Given the description of an element on the screen output the (x, y) to click on. 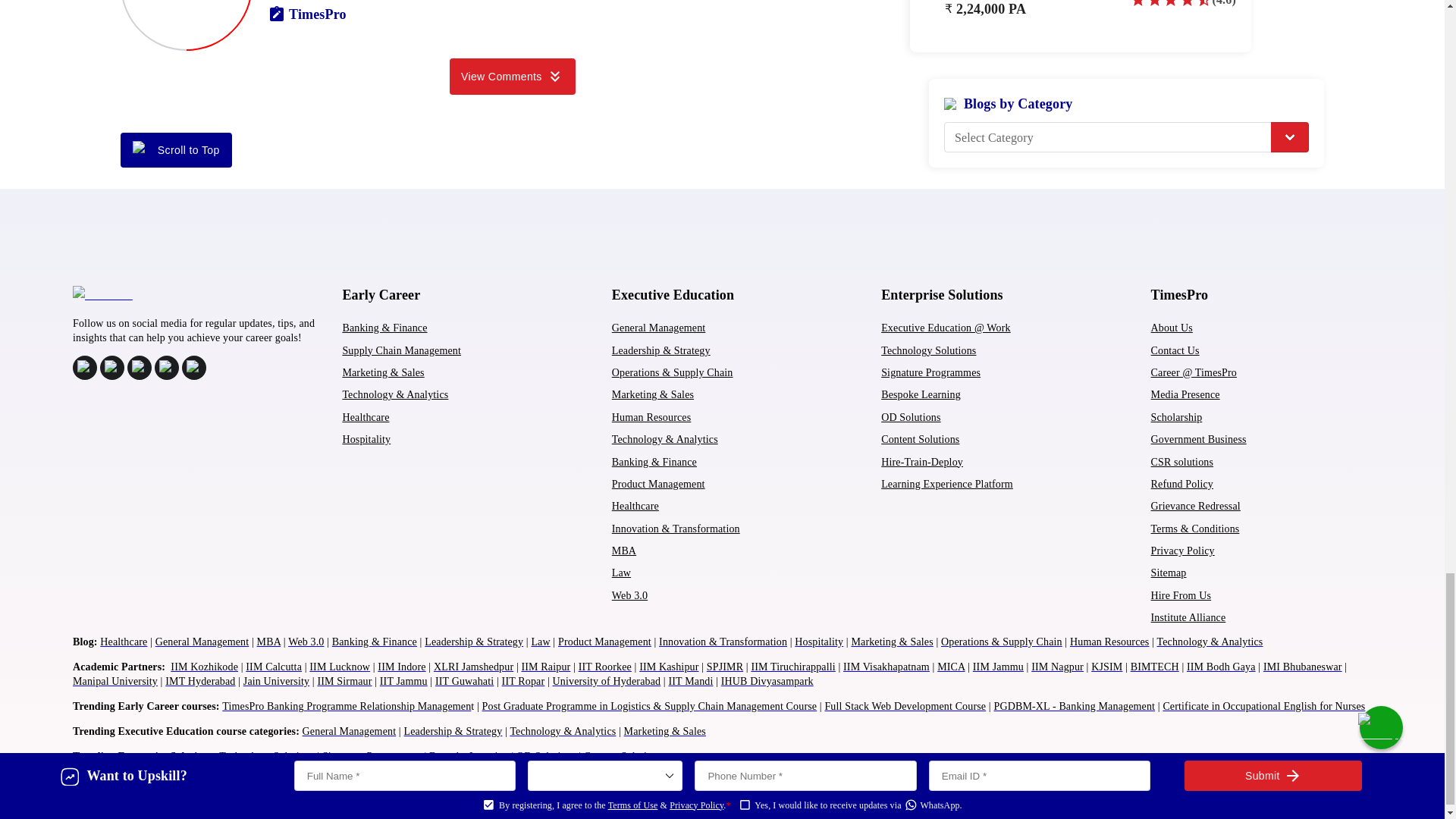
Product Management (657, 483)
Healthcare (365, 417)
Healthcare (635, 505)
Supply Chain Management (401, 350)
MBA (623, 550)
Scroll to Top (175, 149)
General Management (658, 327)
Human Resources (651, 417)
View Comments (512, 76)
Hospitality (366, 439)
